Given the description of an element on the screen output the (x, y) to click on. 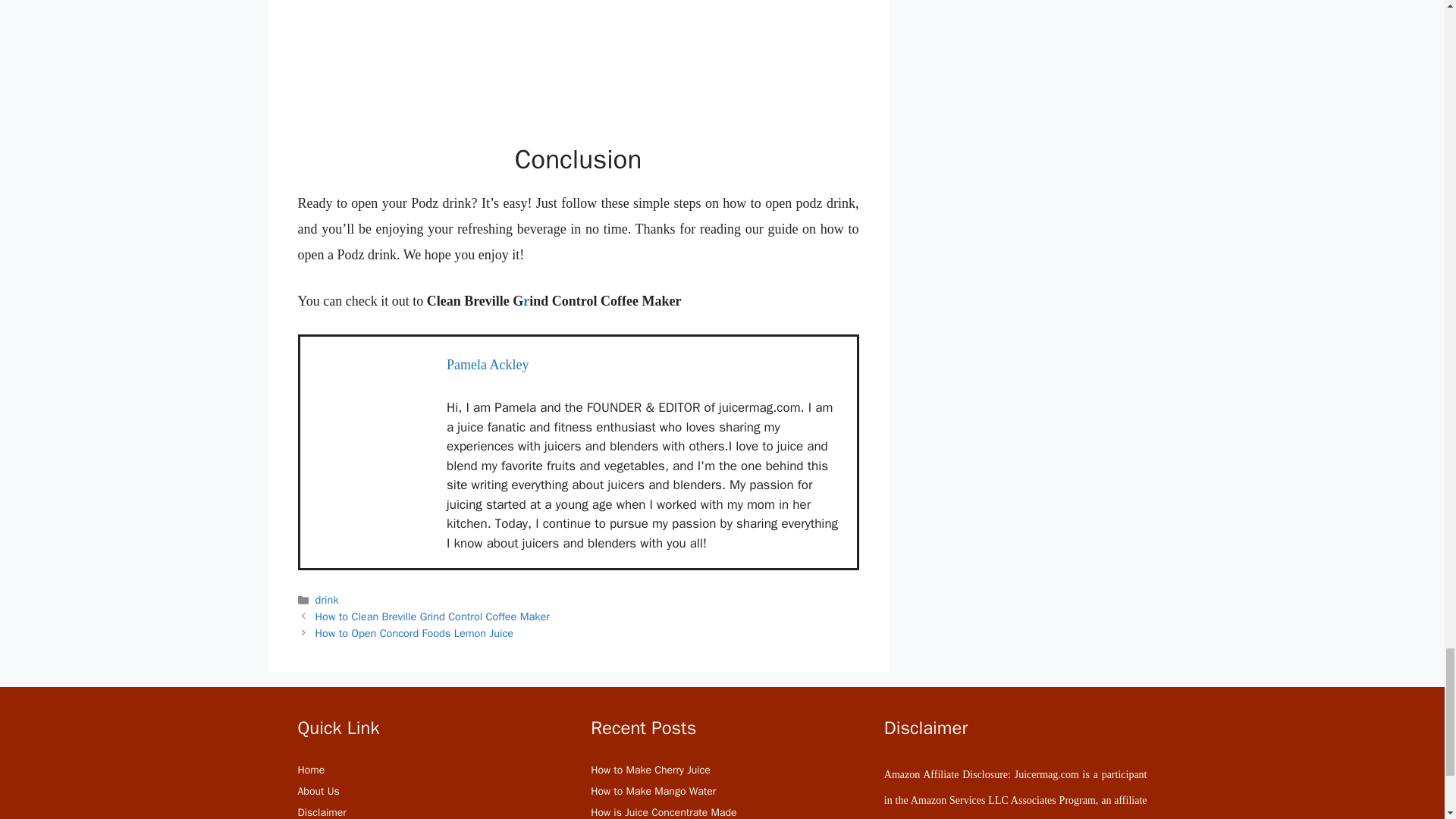
drink (327, 599)
How to Open Concord Foods Lemon Juice (414, 632)
Pamela Ackley (487, 364)
How to Clean Breville Grind Control Coffee Maker (432, 616)
